Given the description of an element on the screen output the (x, y) to click on. 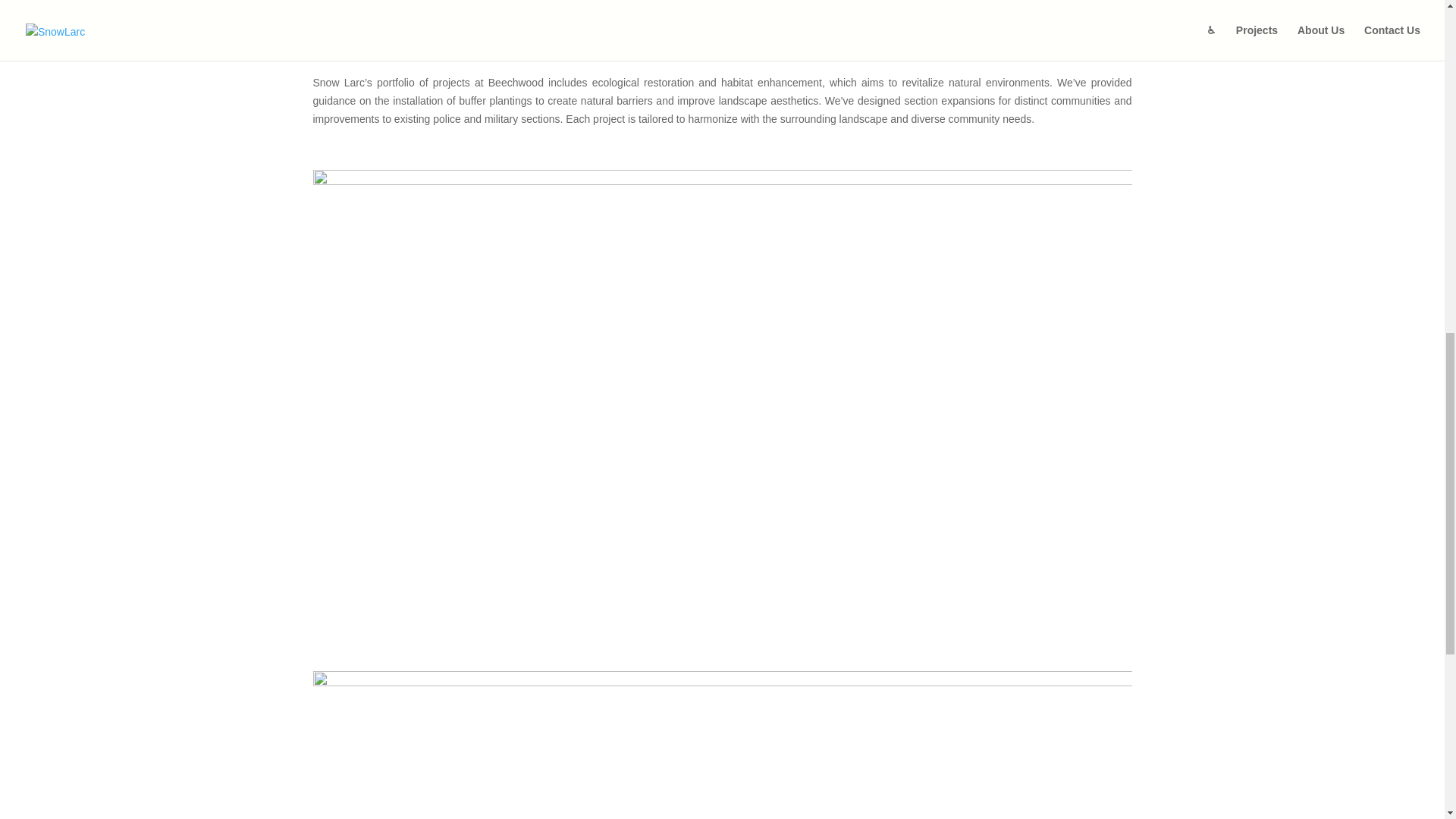
Beechwood 3 (722, 744)
